Given the description of an element on the screen output the (x, y) to click on. 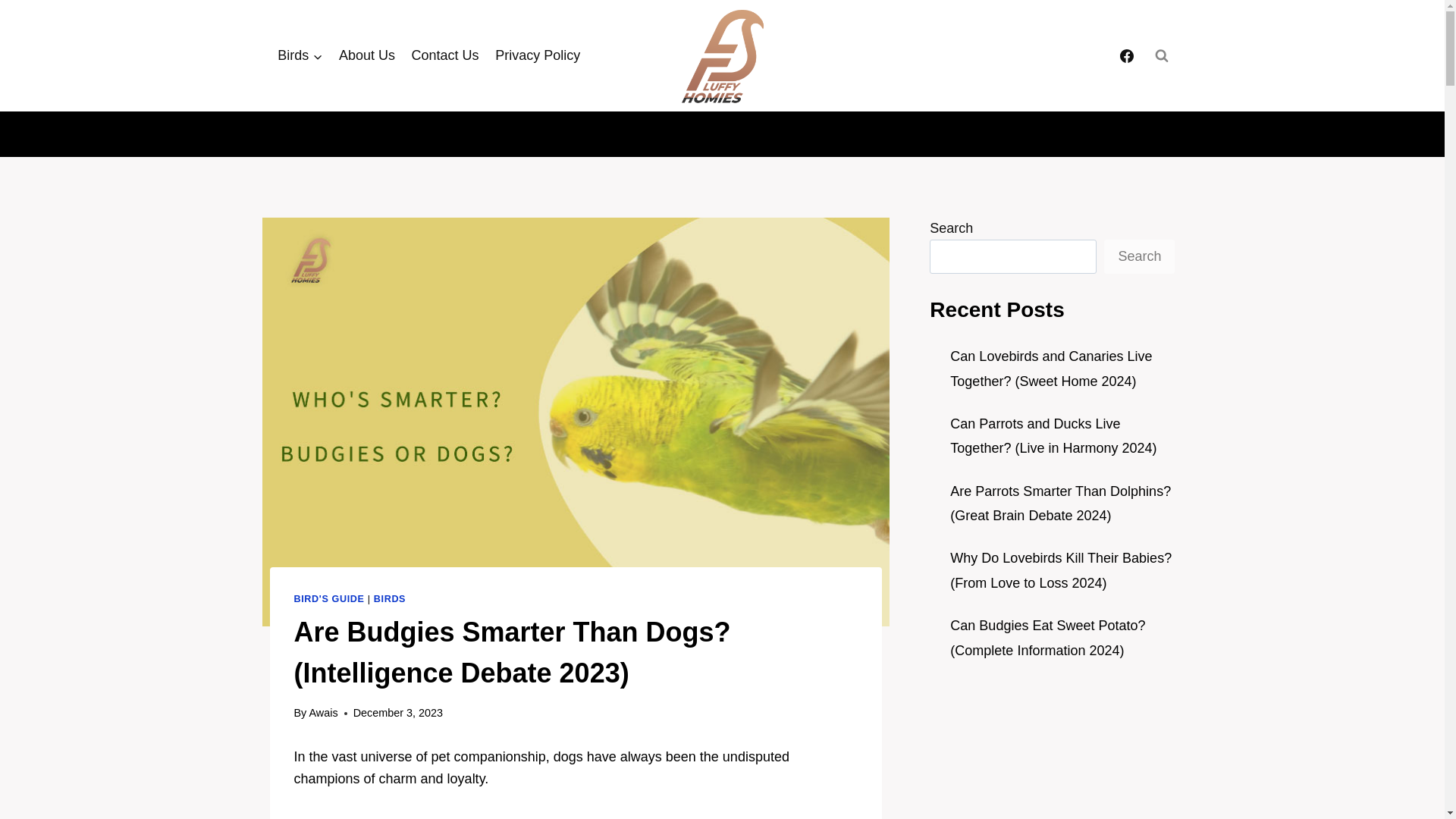
About Us (366, 55)
BIRDS (390, 598)
BIRD'S GUIDE (329, 598)
Contact Us (445, 55)
Birds (300, 55)
Privacy Policy (537, 55)
Awais (322, 712)
